Given the description of an element on the screen output the (x, y) to click on. 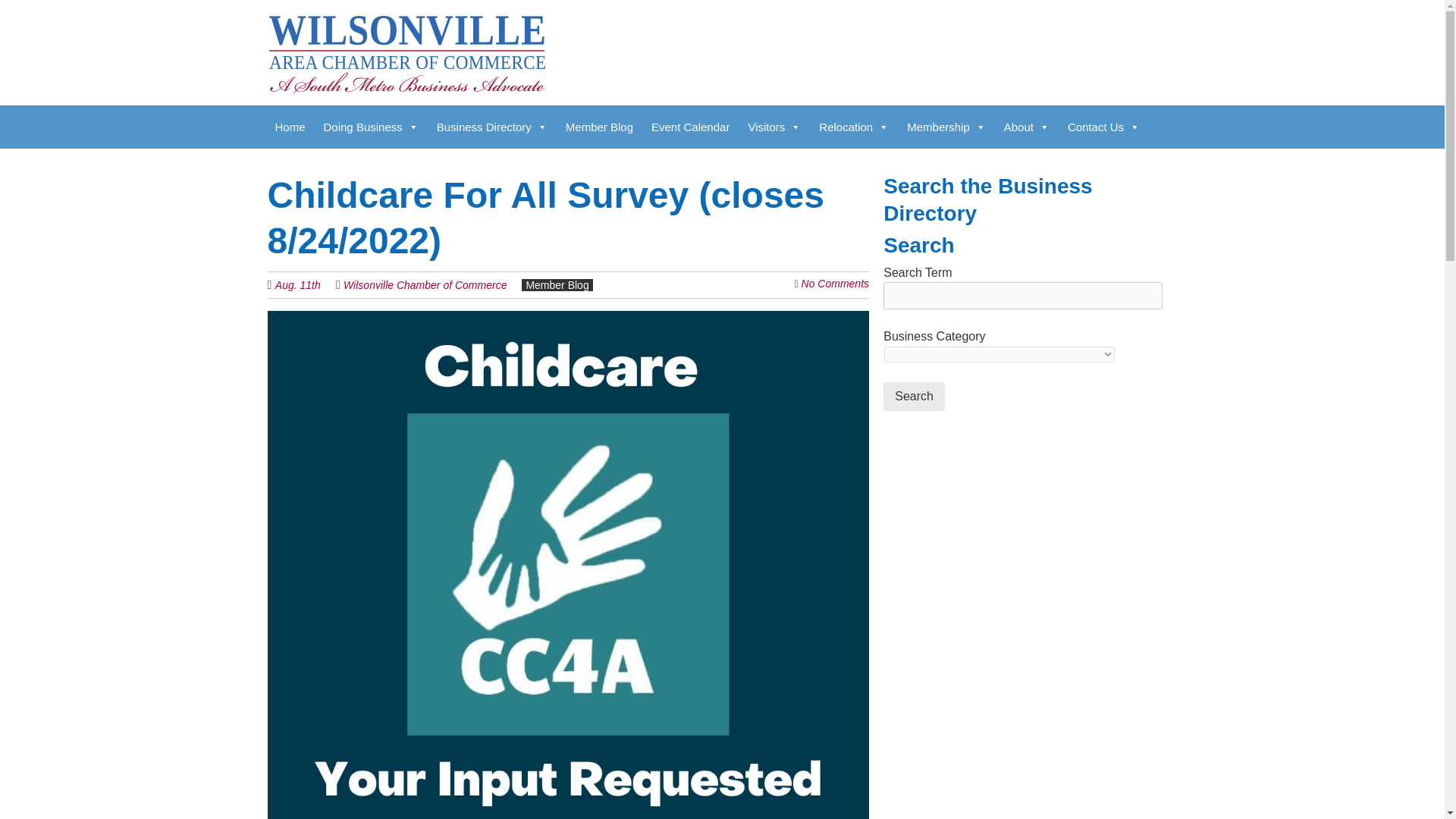
Membership (945, 127)
Business Directory (491, 127)
Relocation (853, 127)
Member Blog (598, 127)
Doing Business (370, 127)
Visitors (773, 127)
Search (913, 396)
Event Calendar (689, 127)
Home (289, 127)
Wilsonville Chamber of Commerce - Wilsonville, OR (405, 67)
